Given the description of an element on the screen output the (x, y) to click on. 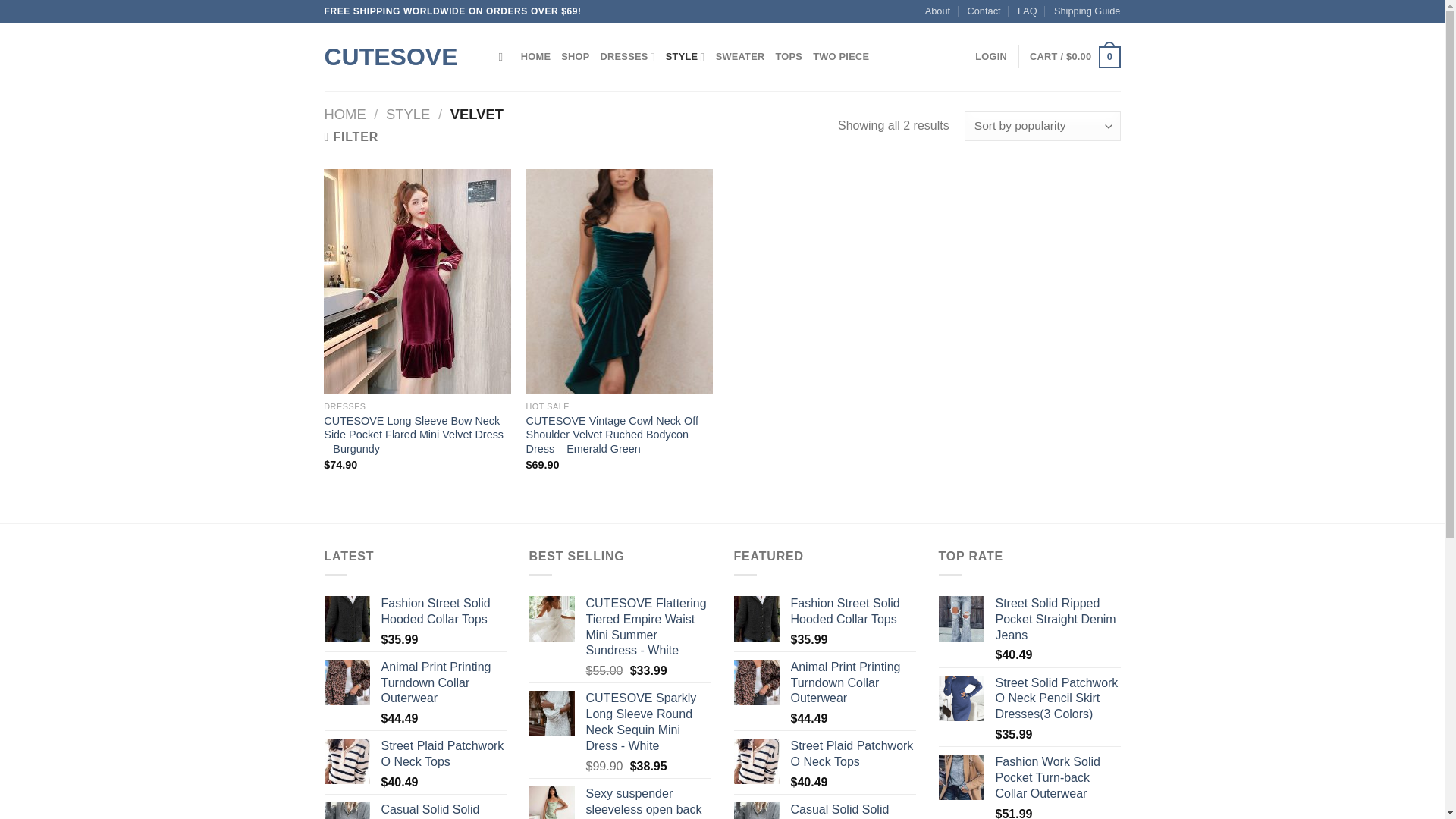
About (937, 11)
Cart (1074, 57)
HOME (535, 56)
DRESSES (627, 56)
STYLE (684, 56)
Shipping Guide (1087, 11)
SHOP (574, 56)
CUTESOVE (400, 56)
Contact (984, 11)
